Given the description of an element on the screen output the (x, y) to click on. 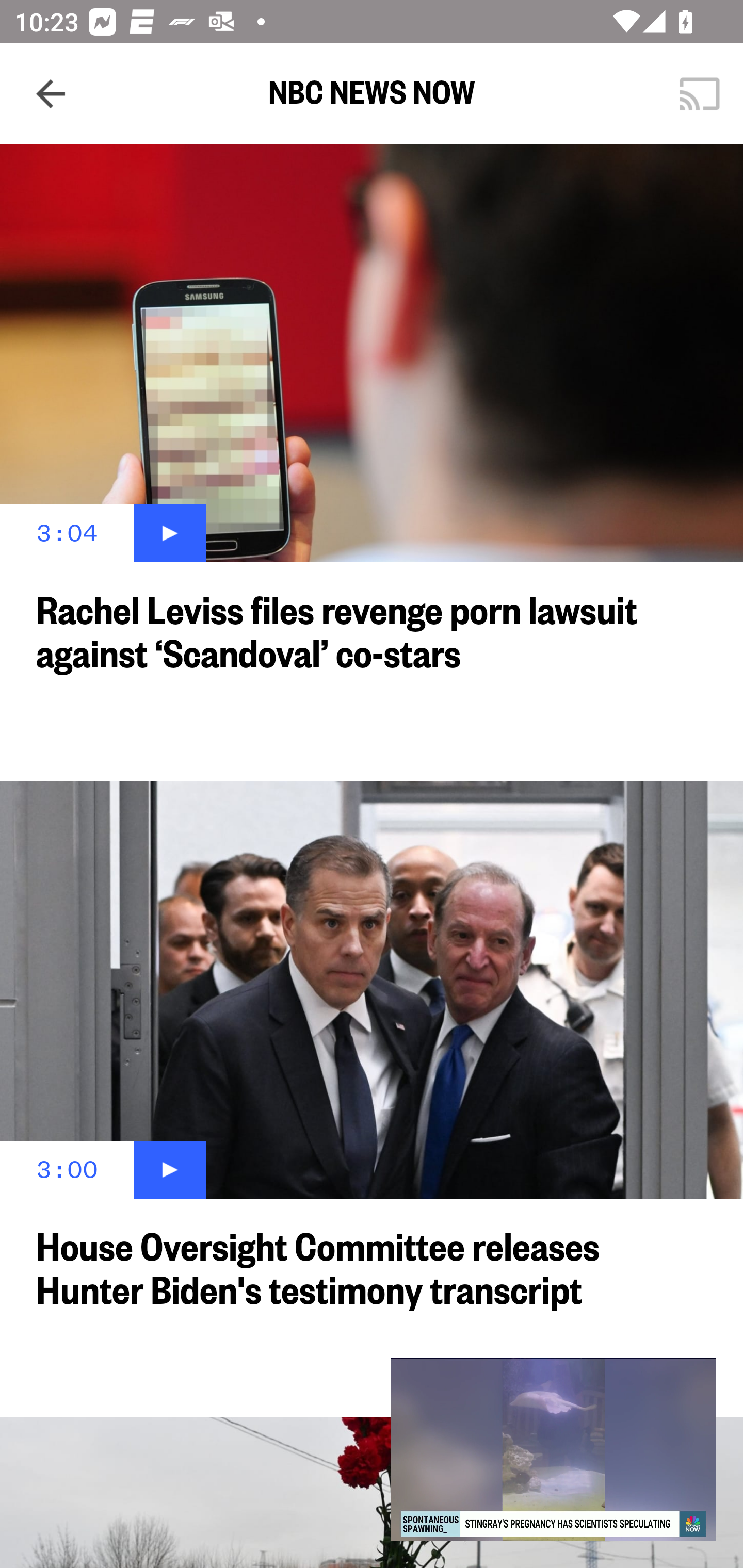
Navigate up (50, 93)
Cast. Disconnected (699, 93)
